Given the description of an element on the screen output the (x, y) to click on. 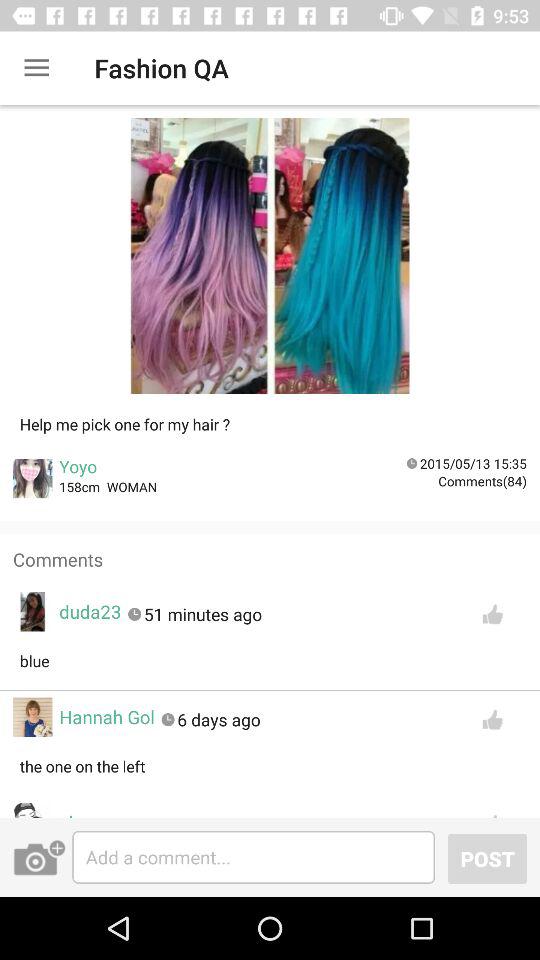
like button (492, 614)
